Given the description of an element on the screen output the (x, y) to click on. 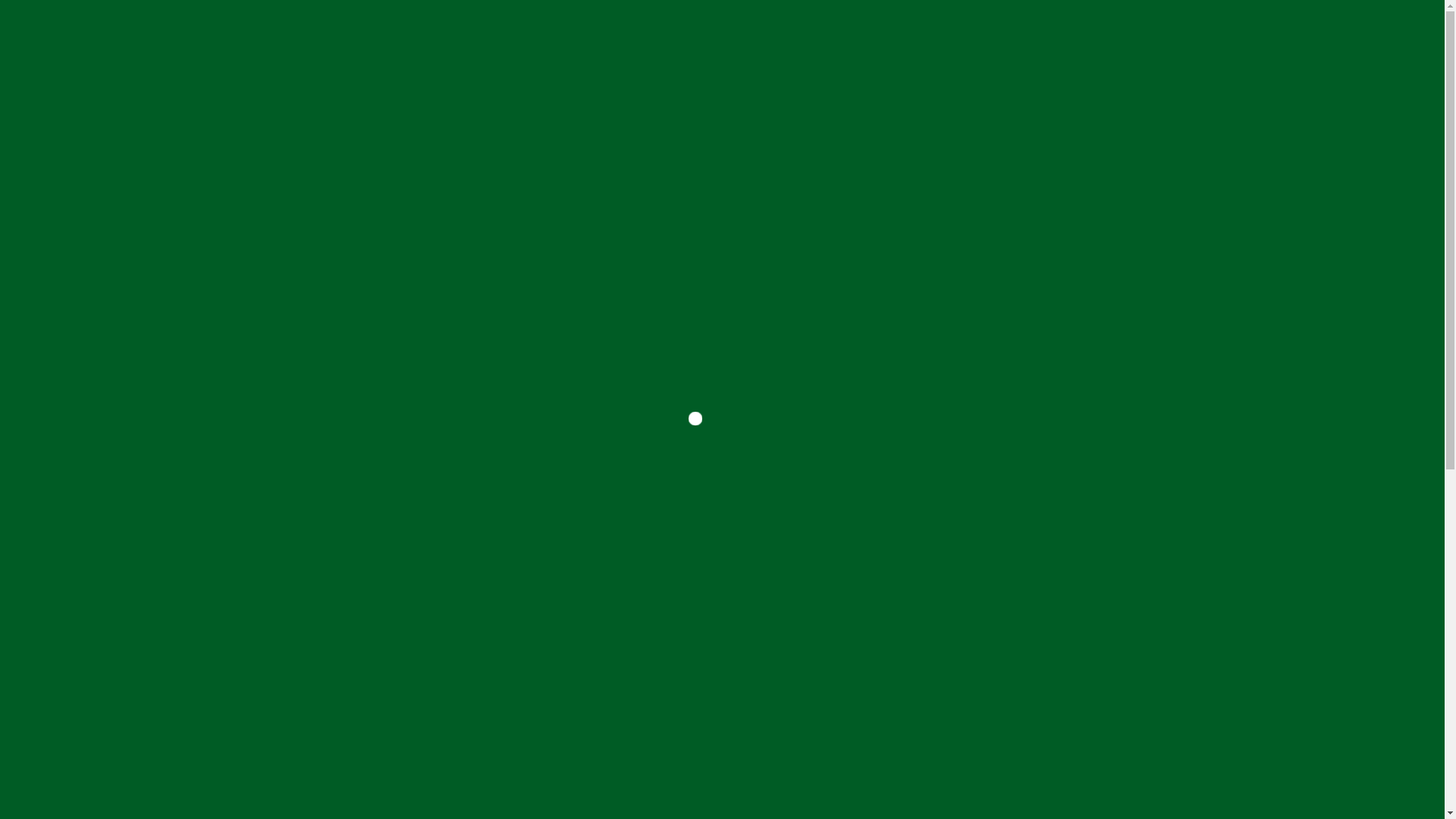
Aktuelles Element type: text (822, 38)
044 787 61 11 Element type: text (68, 414)
www.entex.ch Element type: text (42, 441)
Hier finden Sie unsere offenen Stellen! Element type: text (722, 586)
Standort Element type: text (1000, 38)
info@entex.ch Element type: text (43, 428)
blumenedelweiss.ch Element type: hover (72, 37)
Angebote Element type: text (725, 38)
044 941 89 86 Element type: text (68, 279)
Galerie Element type: text (910, 38)
info@blumenedelweiss.ch Element type: text (79, 293)
Home Element type: text (538, 38)
